Given the description of an element on the screen output the (x, y) to click on. 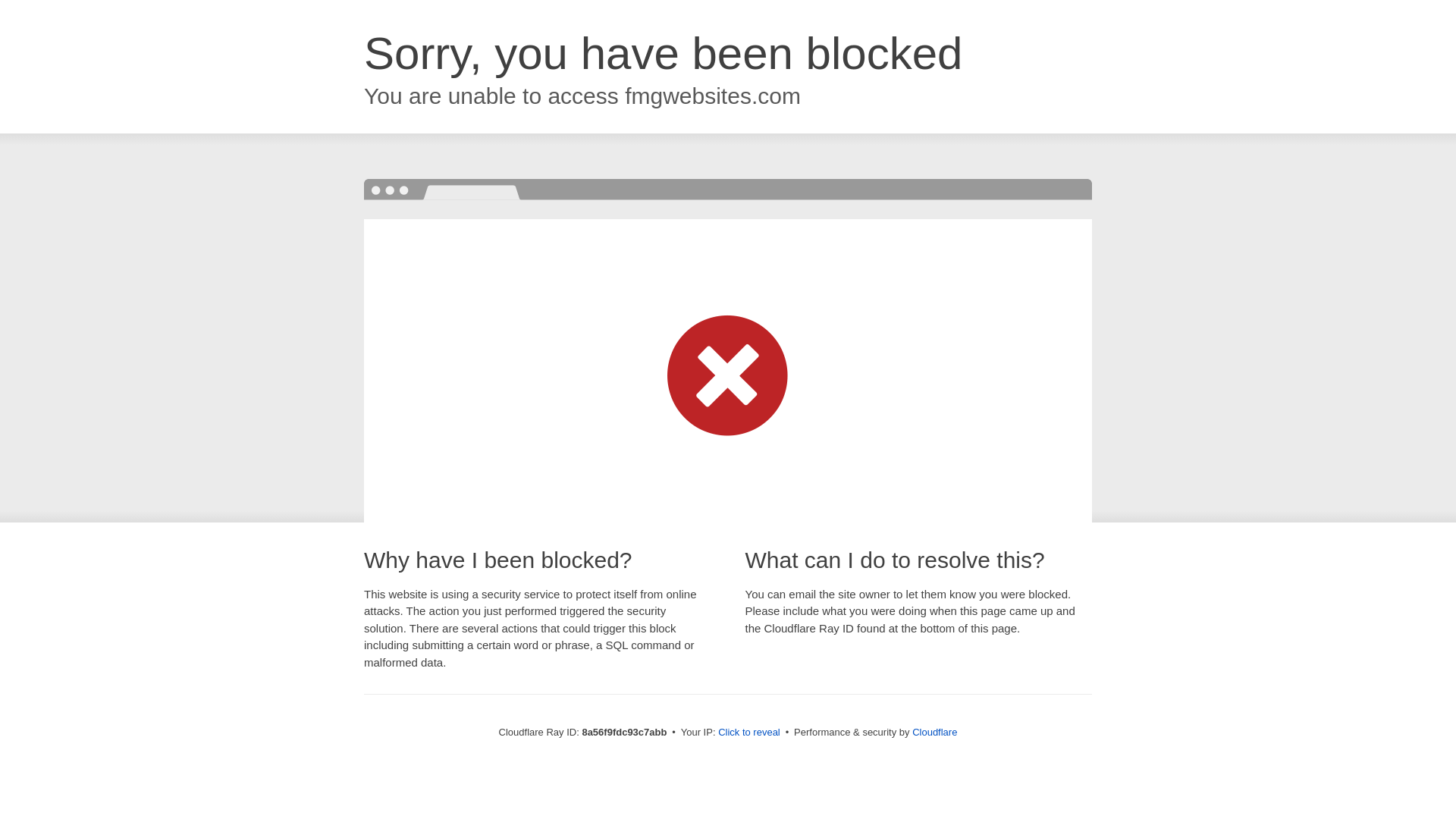
Click to reveal (748, 732)
Cloudflare (934, 731)
